Given the description of an element on the screen output the (x, y) to click on. 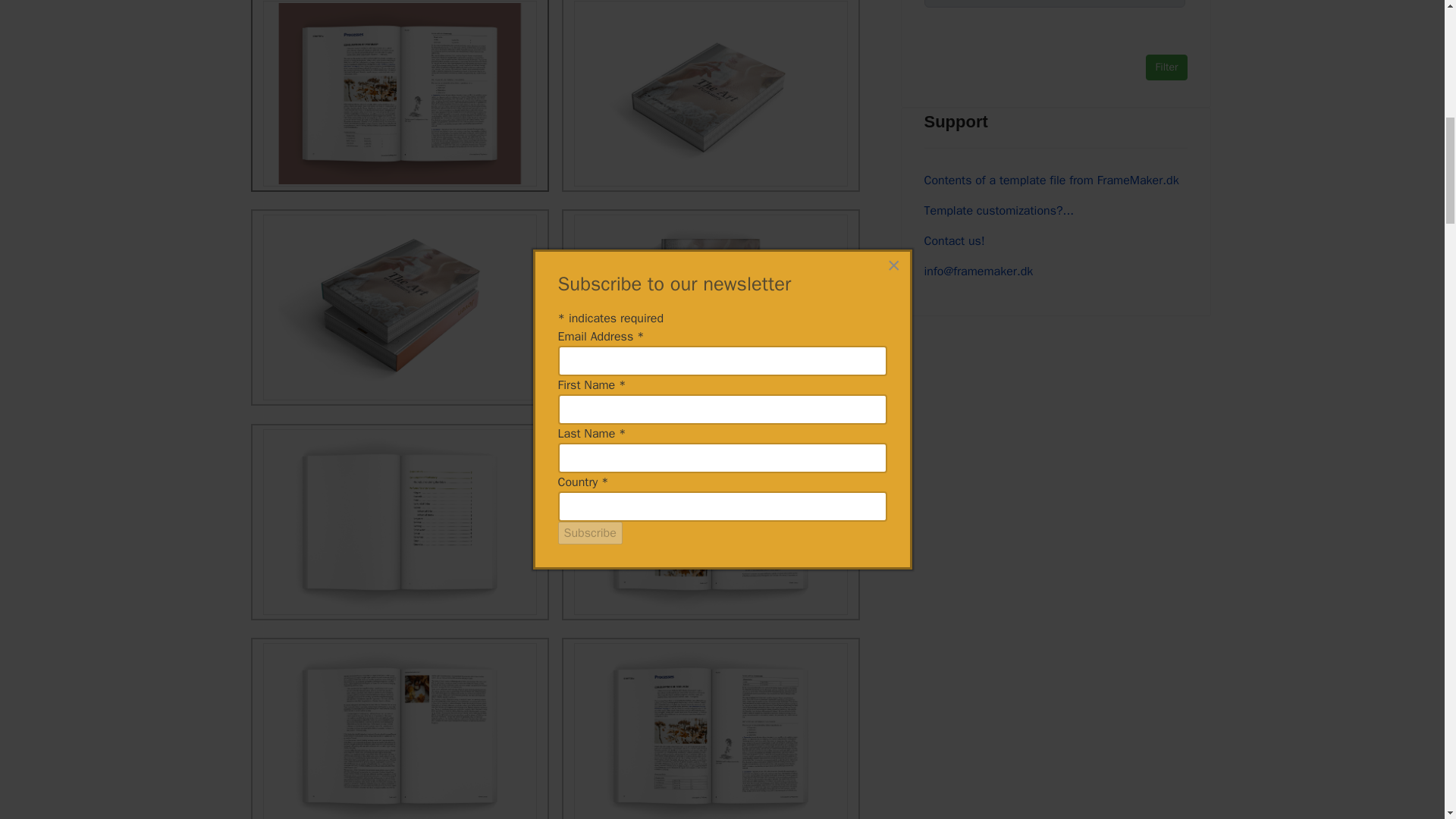
Joven - Structured Template for Adobe FrameMaker 02 (399, 307)
Joven - Structured Template for Adobe FrameMaker 04 (400, 521)
Joven - Structured FrameMaker Template (400, 95)
Filter (1166, 67)
Joven - Structured Template for Adobe FrameMaker 03 (710, 307)
Joven - Structured FrameMaker Template (399, 93)
Joven - Structured Template for Adobe FrameMaker 04 (399, 522)
Joven - Structured Template for Adobe FrameMaker 01 (711, 95)
Joven - Structured Template for Adobe FrameMaker 01 (710, 93)
Joven - Structured Template for Adobe FrameMaker 05 (711, 521)
